Given the description of an element on the screen output the (x, y) to click on. 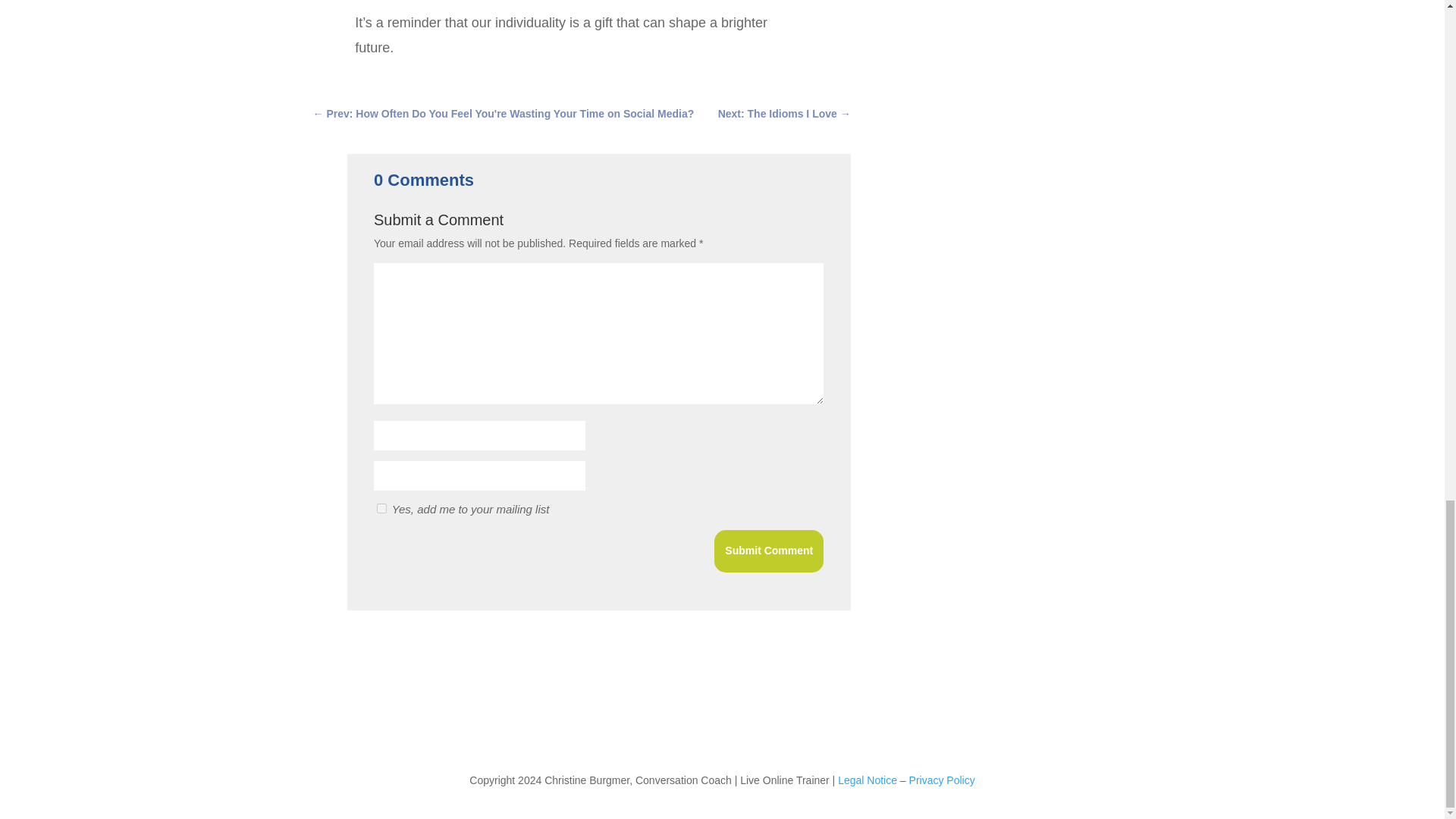
1 (382, 508)
